Given the description of an element on the screen output the (x, y) to click on. 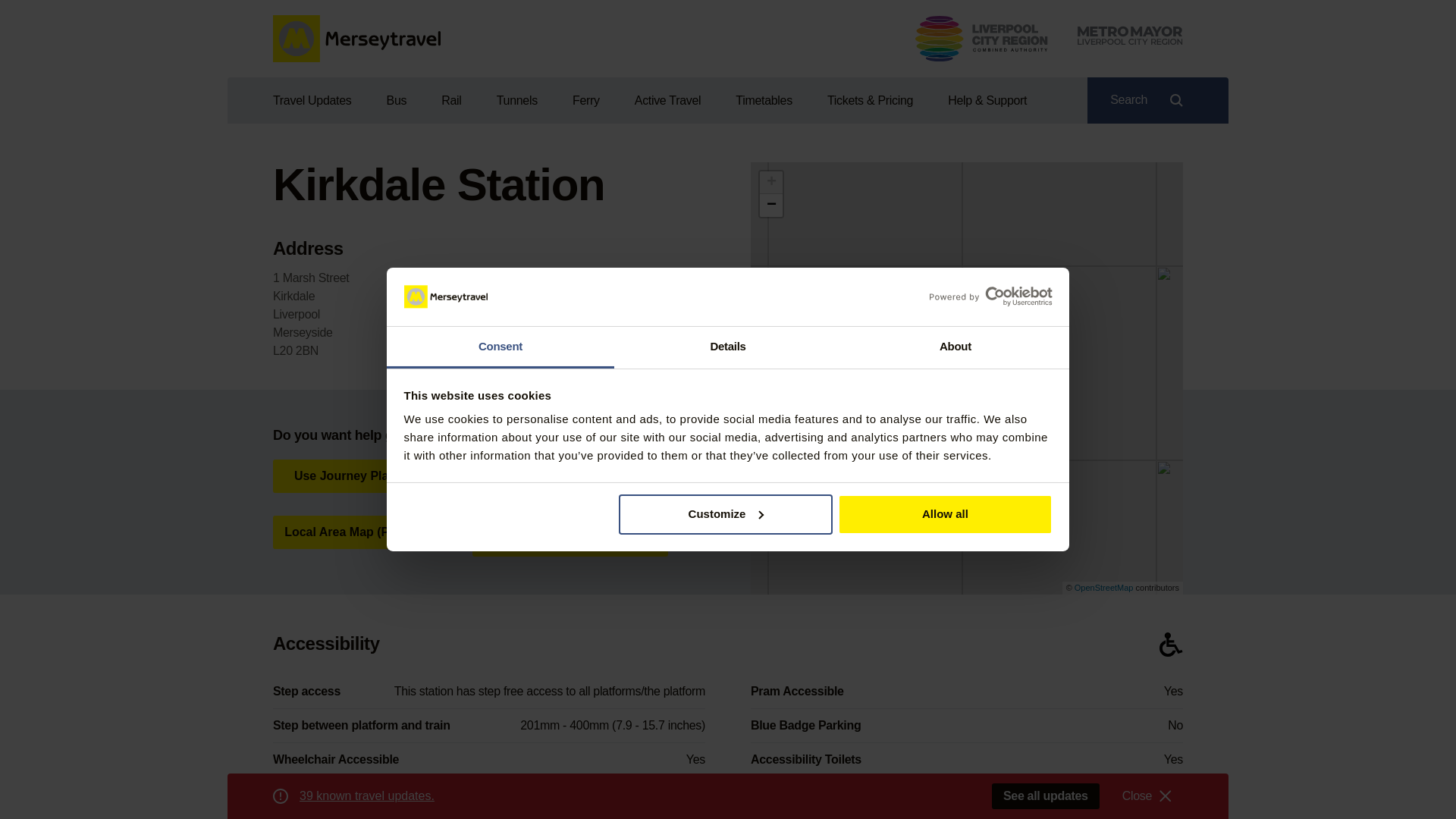
Customize (725, 514)
About (954, 347)
Bus (396, 99)
Rail (451, 99)
Ferry (585, 99)
Liverpool City Region CA Logo and Metro Mayor Logo (1048, 38)
Tunnels (517, 99)
mersey travel link, back to home (357, 38)
Active Travel (668, 99)
Consent (500, 347)
Details (727, 347)
Travel Updates (319, 99)
